Given the description of an element on the screen output the (x, y) to click on. 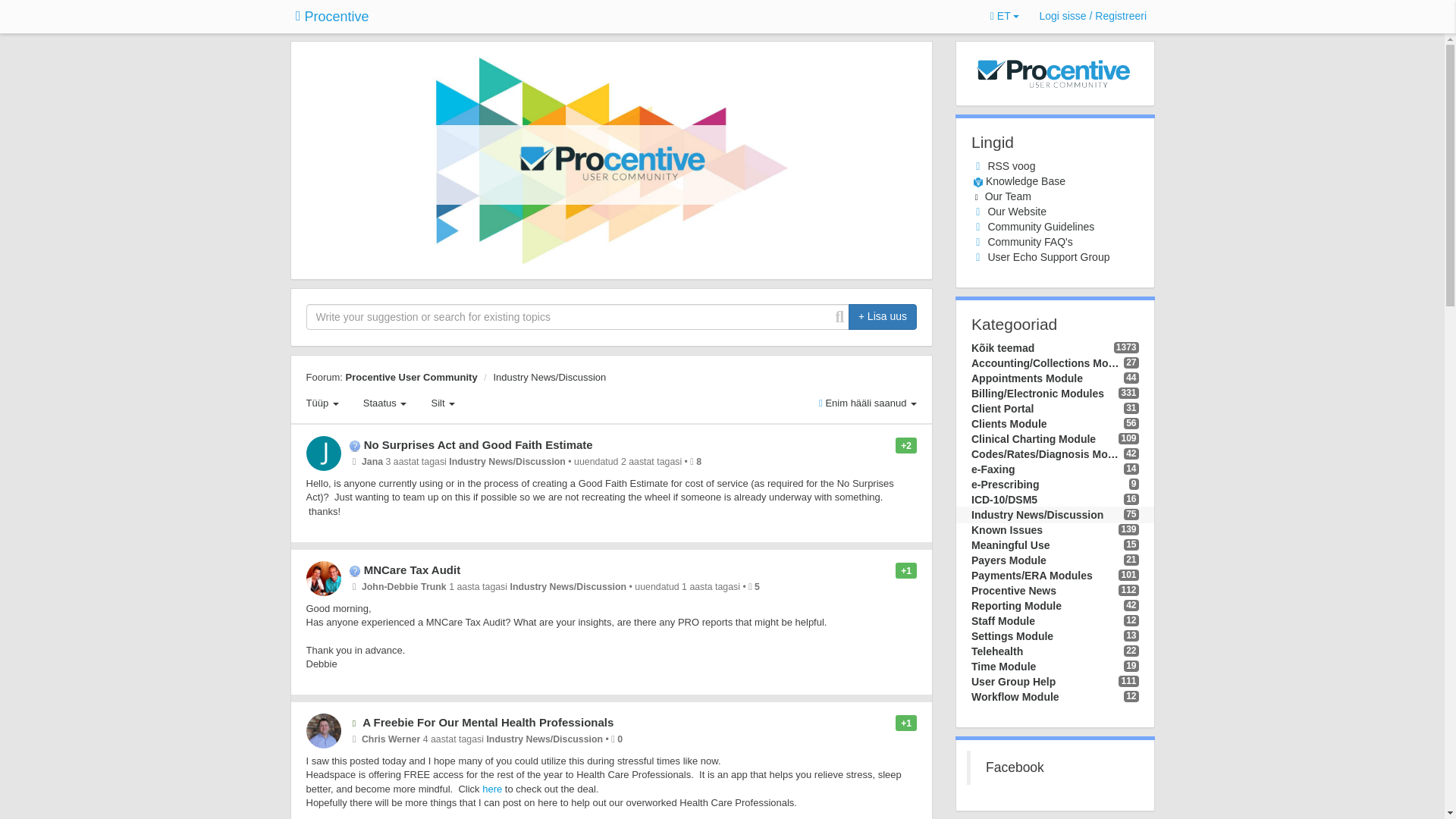
Procentive (331, 16)
ET (1005, 16)
Procentive User Community (411, 377)
Lisa uus (882, 316)
